Given the description of an element on the screen output the (x, y) to click on. 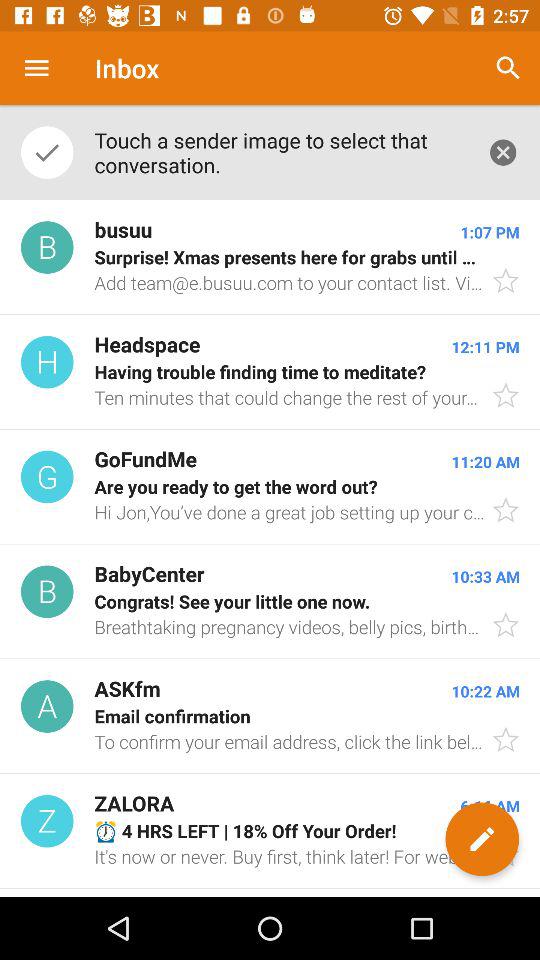
launch icon next to the touch a sender item (503, 152)
